Given the description of an element on the screen output the (x, y) to click on. 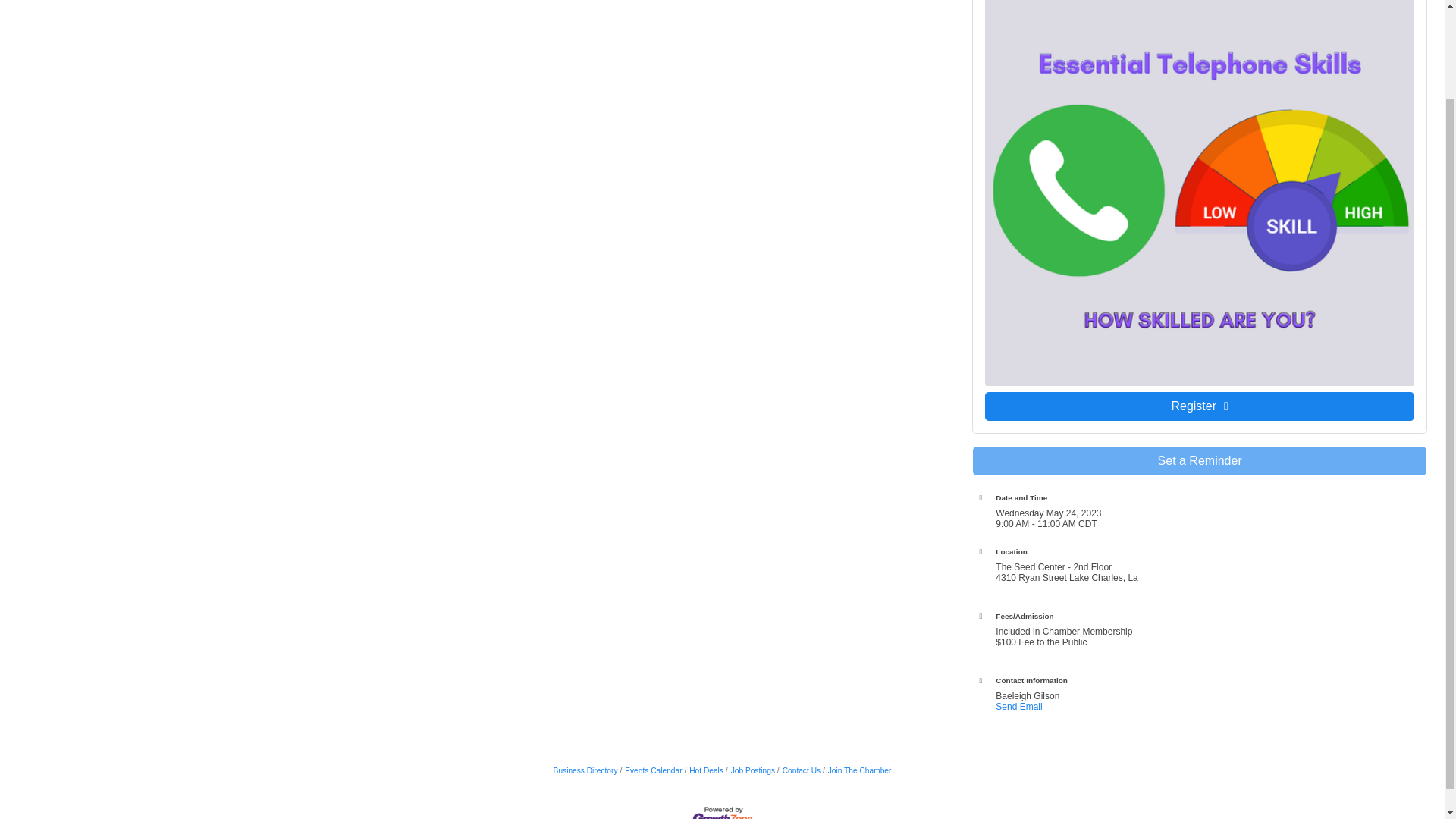
Hot Deals (703, 770)
Set a Reminder (1199, 460)
Events Calendar (650, 770)
Contact Us (799, 770)
Register (1199, 406)
Join The Chamber (856, 770)
Business Directory (585, 770)
Send Email (1018, 706)
Job Postings (749, 770)
